Given the description of an element on the screen output the (x, y) to click on. 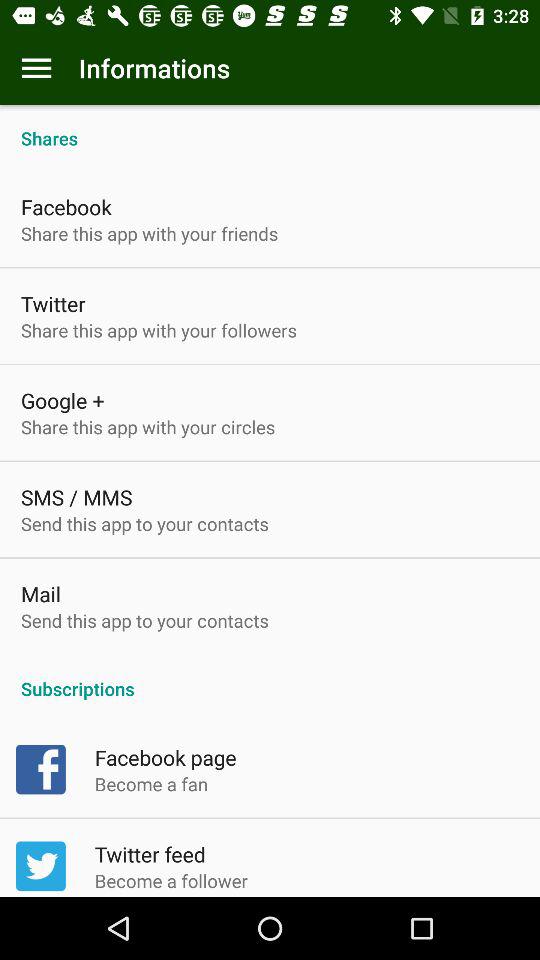
launch item below send this app item (270, 678)
